Given the description of an element on the screen output the (x, y) to click on. 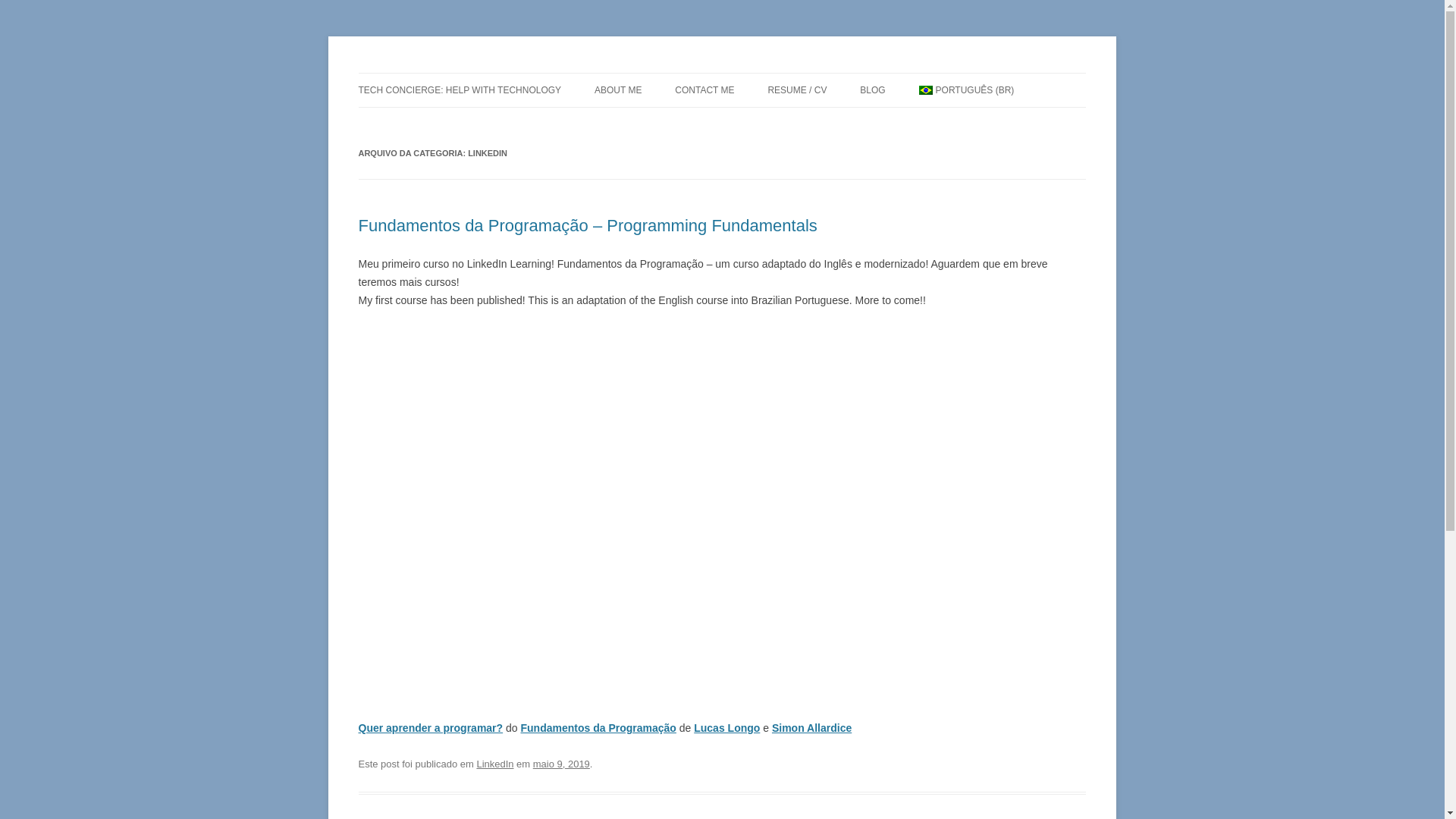
Lucas Longo (419, 72)
maio 9, 2019 (560, 763)
3:48 pm (560, 763)
Quer aprender a programar? (430, 727)
ABOUT ME (618, 90)
Quer aprender a programar? (430, 727)
Simon Allardice (811, 727)
LinkedIn (494, 763)
CONTACT ME (704, 90)
Lucas Longo (727, 727)
TECH CONCIERGE: HELP WITH TECHNOLOGY (459, 90)
